Given the description of an element on the screen output the (x, y) to click on. 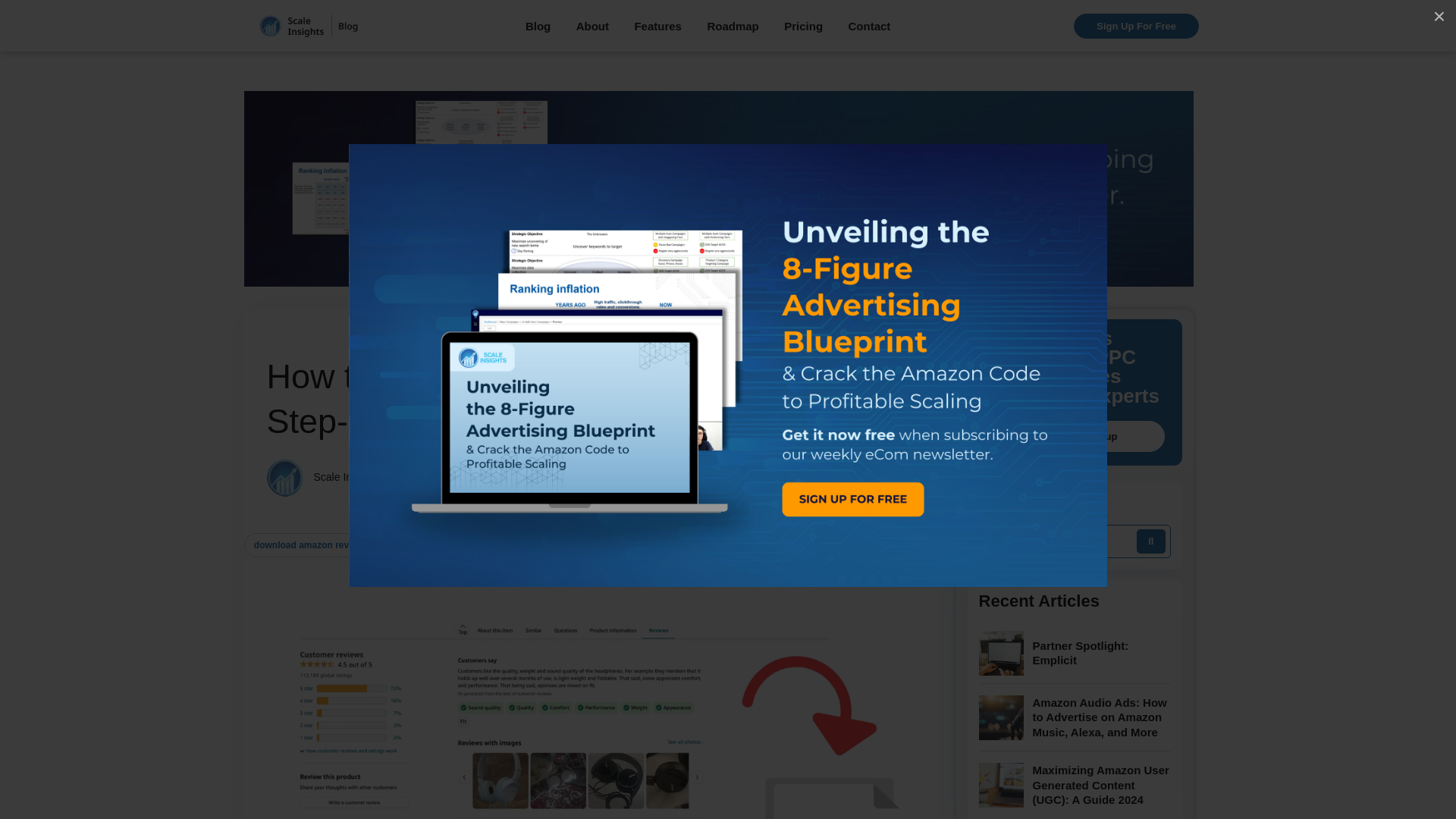
Contact (869, 26)
Sign Up For Free (1136, 25)
Features (657, 26)
Roadmap (732, 26)
Blog (537, 26)
Partner Spotlight: Emplicit (1101, 653)
Join our FB group (1074, 436)
About (592, 26)
Pricing (803, 26)
